Given the description of an element on the screen output the (x, y) to click on. 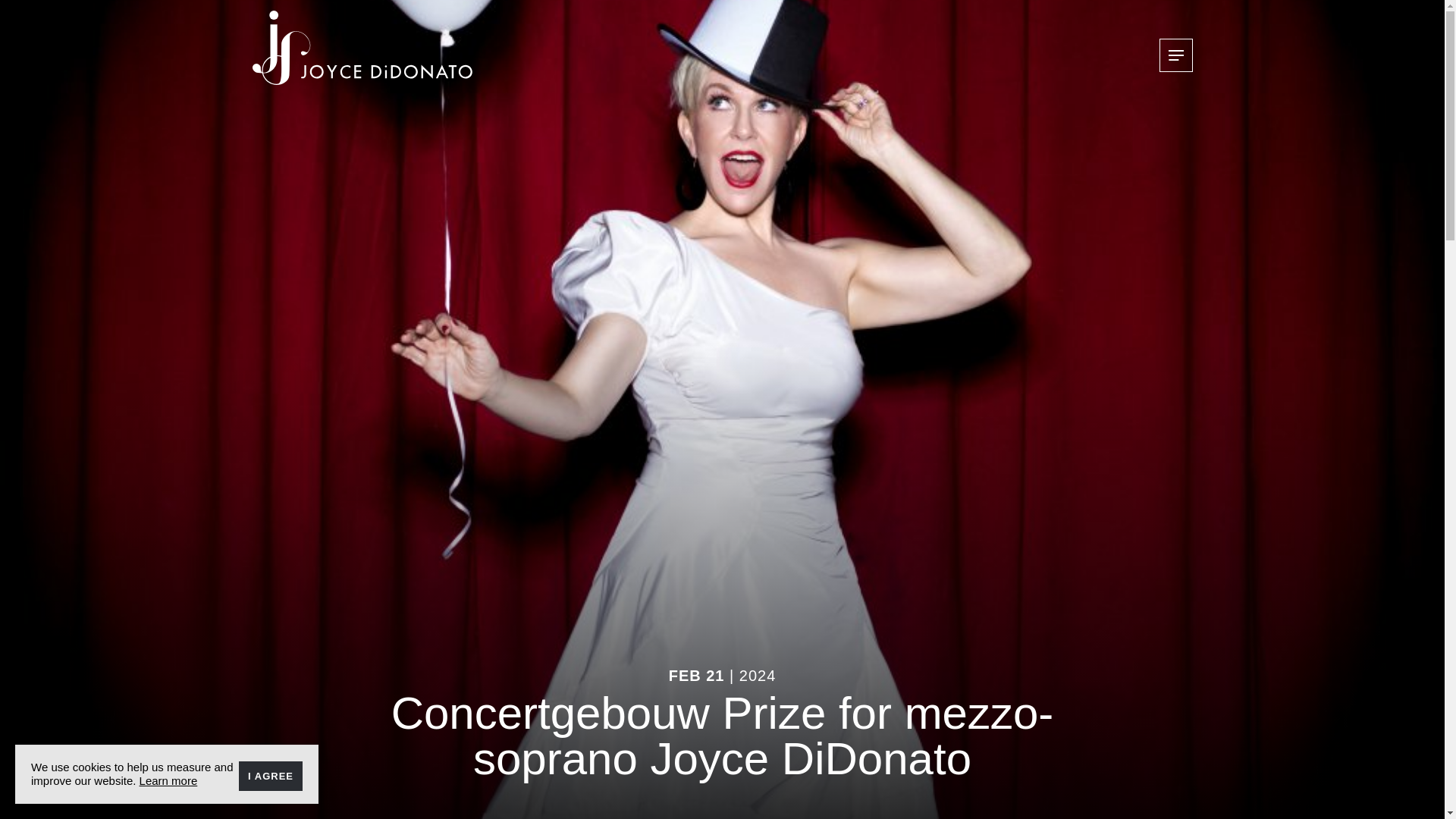
I AGREE (270, 776)
Learn more (168, 780)
Joyce DiDonato (361, 47)
